Given the description of an element on the screen output the (x, y) to click on. 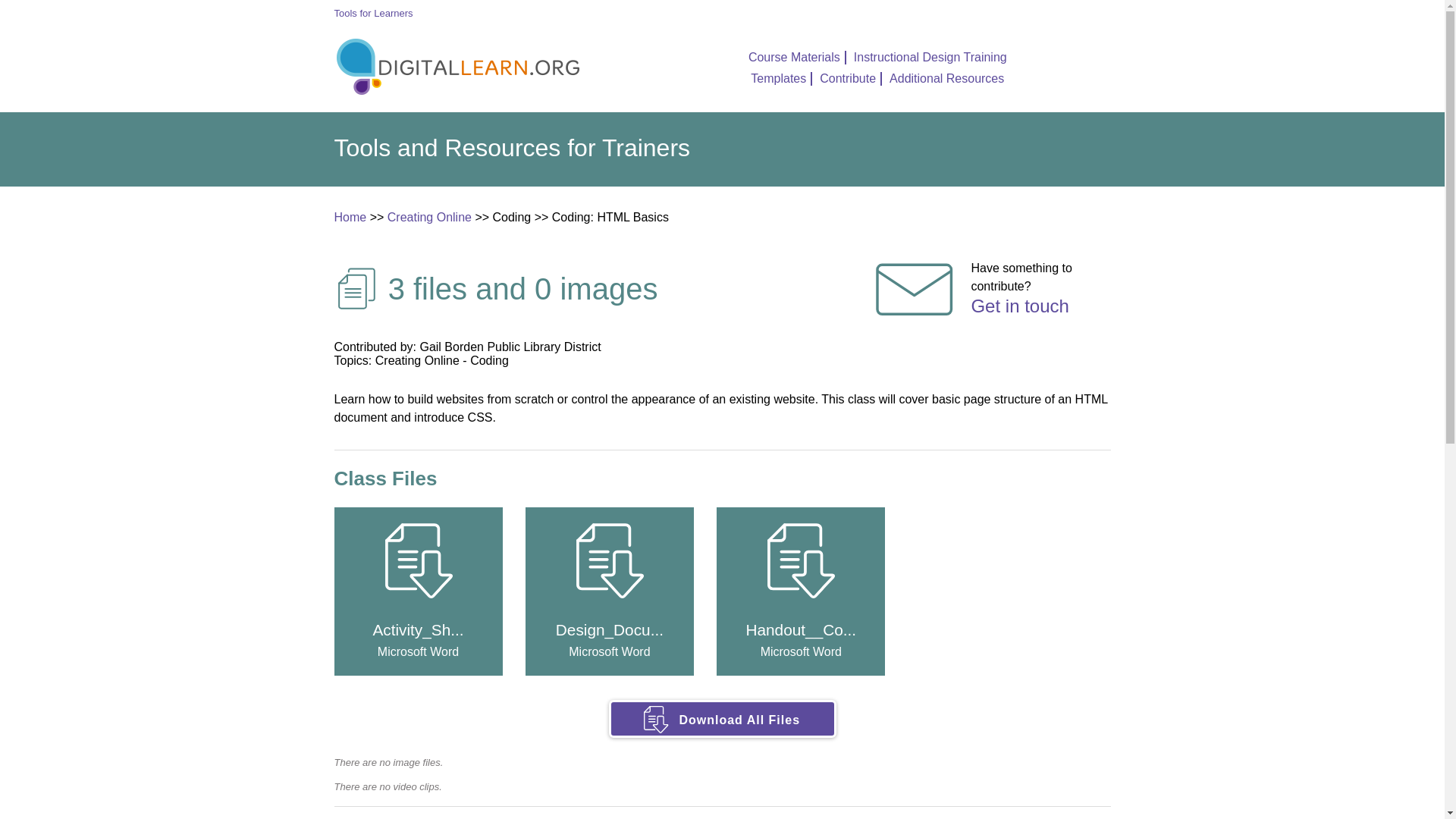
Course Materials (796, 57)
Creating Online (990, 277)
Instructional Design Training (429, 216)
Download All Files (930, 57)
Templates (721, 738)
Tools for Learners (781, 78)
Home (372, 12)
Additional Resources (349, 216)
Contribute (946, 78)
Download All Files (850, 78)
